Given the description of an element on the screen output the (x, y) to click on. 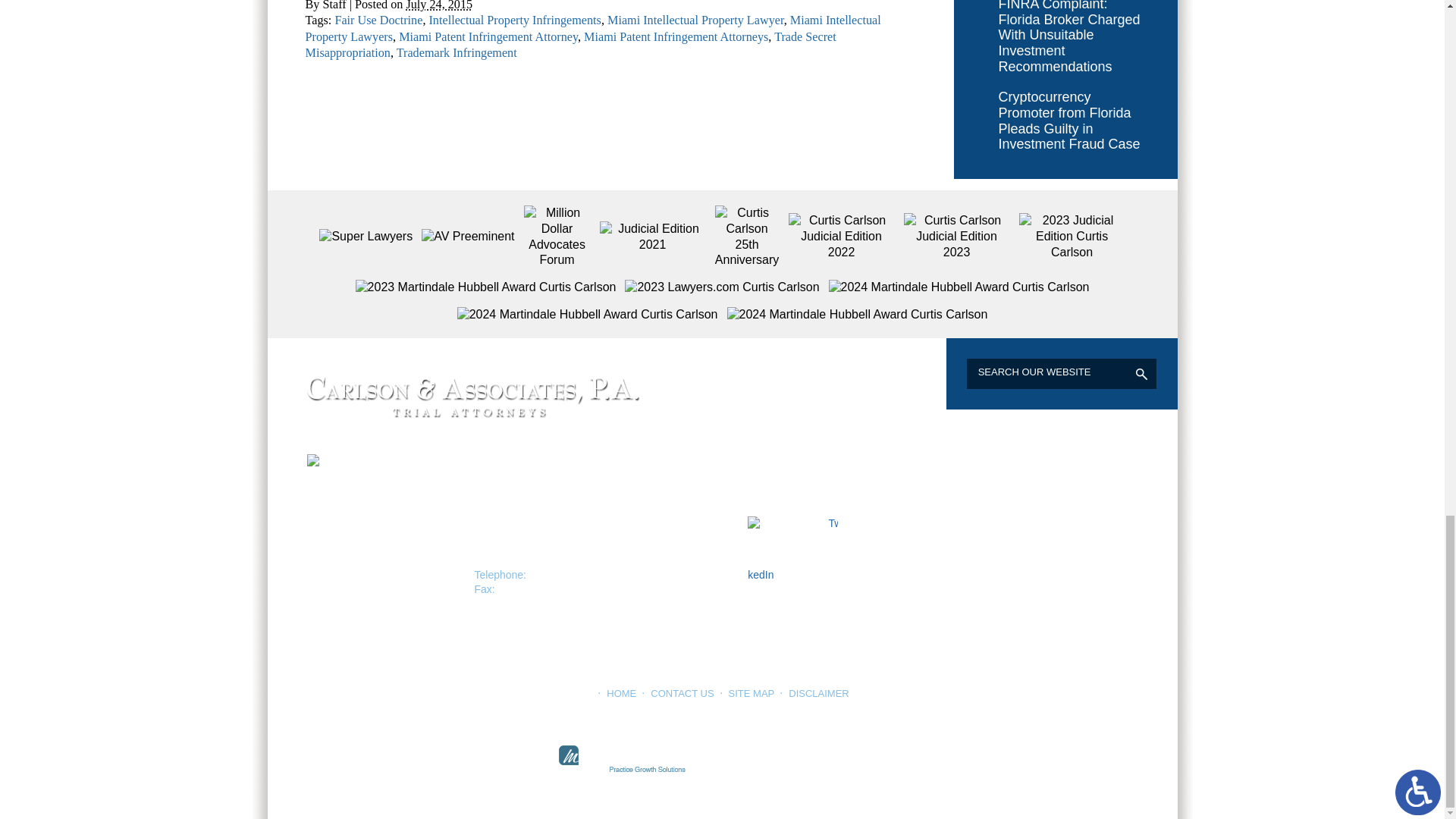
Search Our Website (1035, 371)
2015-07-24T11:45:19-0700 (438, 5)
